Given the description of an element on the screen output the (x, y) to click on. 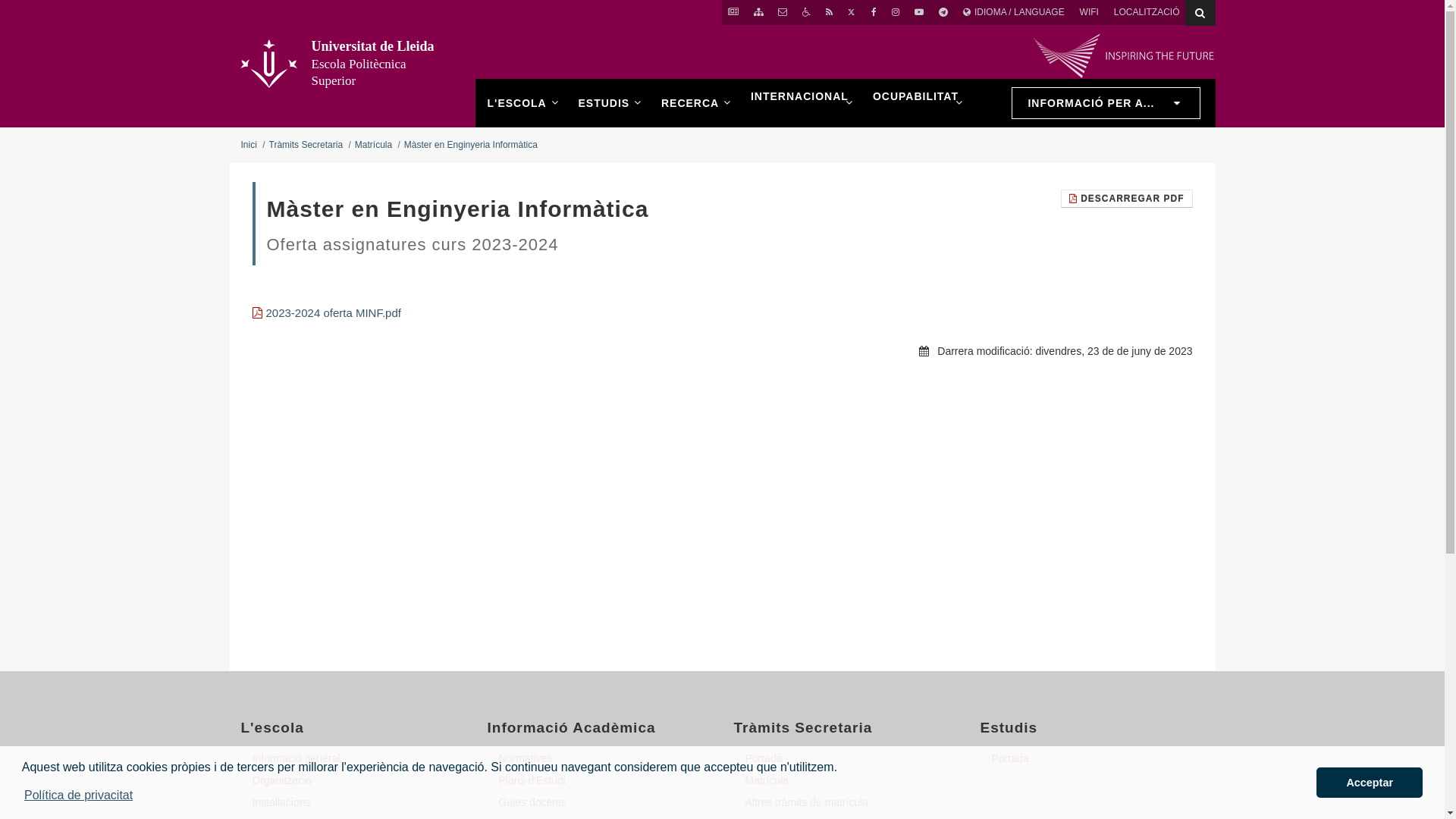
Acceptar Element type: text (1369, 782)
RSS Element type: text (828, 12)
ANAR AL MAPA WEB Element type: text (757, 12)
Portada Element type: text (1091, 758)
Inici Element type: text (249, 144)
EL NOSTRE CANAL DE YOUTUBE Element type: text (918, 12)
 DESCARREGAR PDF Element type: text (1126, 198)
Installacions Element type: text (352, 802)
Portada Element type: text (845, 758)
ANAR A ACCESSIBILITAT Element type: text (806, 12)
2023-2024 oferta MINF.pdf Element type: text (325, 312)
ANAR AL NOSTRE TELEGRAM Element type: text (942, 12)
Search Element type: hover (1199, 12)
RECERCA
   Element type: text (693, 102)
ANAR AL NOSTRE TWITTER Element type: text (851, 12)
L'ESCOLA
   Element type: text (519, 102)
Guies docents Element type: text (598, 802)
Normatives Element type: text (598, 758)
WIFI Element type: text (1088, 12)
Plans d'Estudi Element type: text (598, 780)
ESTUDIS
   Element type: text (606, 102)
CONTACTAR Element type: text (782, 12)
INTERNACIONAL
   Element type: text (799, 102)
OCUPABILITAT
   Element type: text (915, 102)
